Given the description of an element on the screen output the (x, y) to click on. 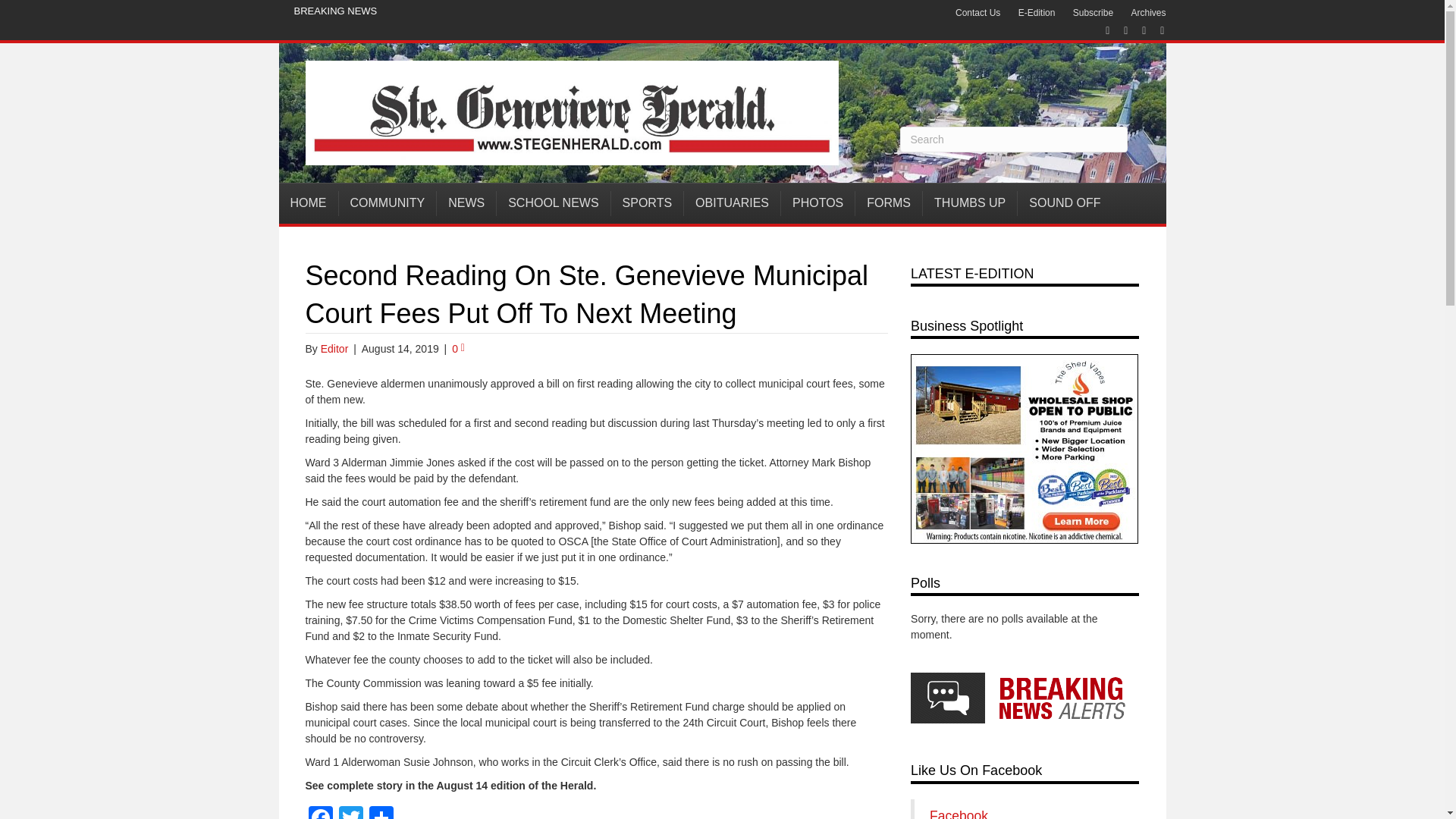
COMMUNITY (386, 202)
OBITUARIES (732, 202)
Archives (1147, 13)
Facebook (319, 812)
Twitter (349, 812)
Linkedin (1135, 30)
Contact Us (977, 13)
Facebook (1099, 30)
Email (1154, 30)
E-Edition (1036, 13)
SCHOOL NEWS (553, 202)
NEWS (466, 202)
Type and press Enter to search. (1012, 139)
SPORTS (647, 202)
FORMS (889, 202)
